Given the description of an element on the screen output the (x, y) to click on. 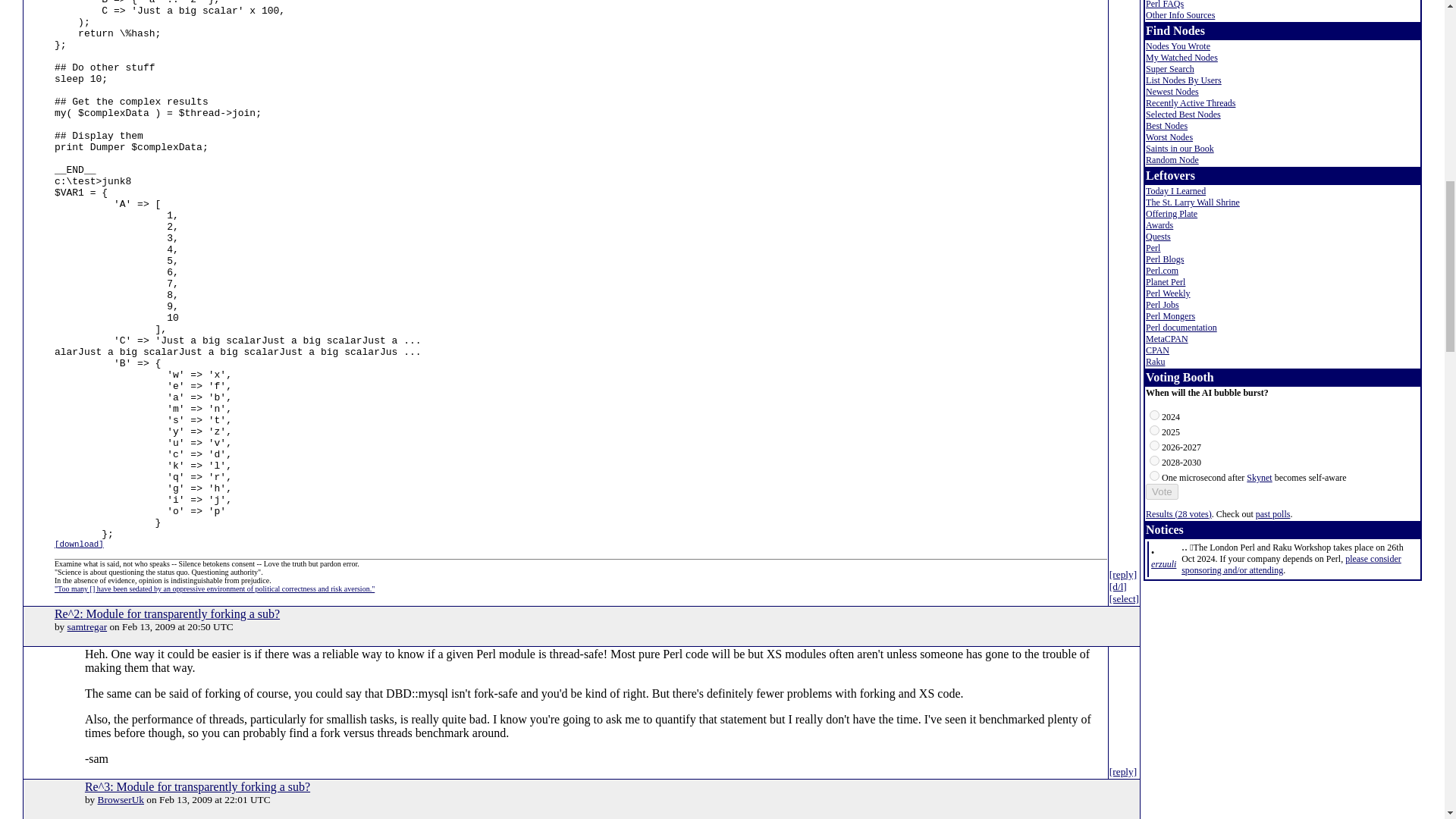
1 (1154, 429)
4 (1154, 475)
Vote (1161, 491)
3 (1154, 460)
0 (1154, 415)
2024-05-30 14:23:36 (1163, 563)
2 (1154, 445)
